Given the description of an element on the screen output the (x, y) to click on. 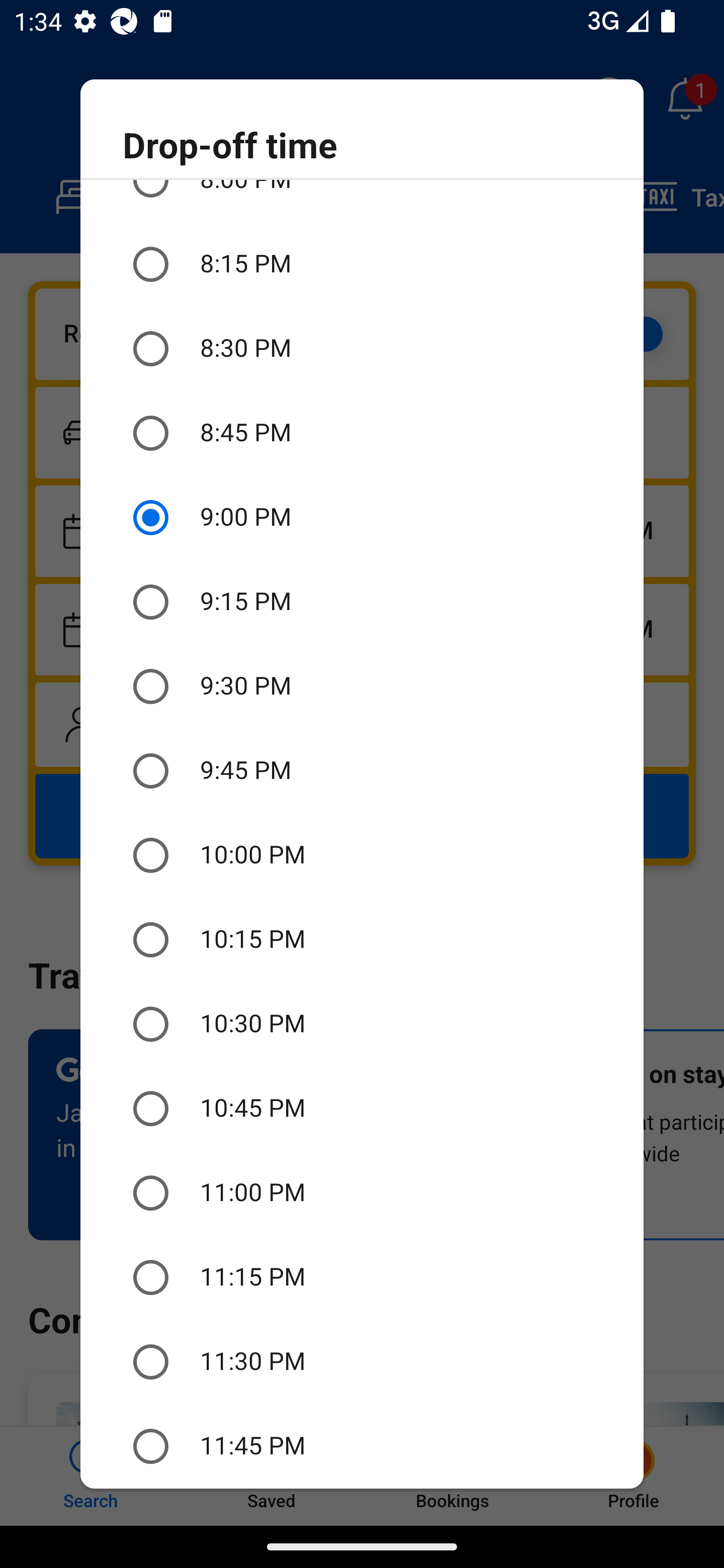
8:15 PM (361, 264)
8:30 PM (361, 348)
8:45 PM (361, 432)
9:00 PM (361, 517)
9:15 PM (361, 601)
9:30 PM (361, 686)
9:45 PM (361, 771)
10:00 PM (361, 854)
10:15 PM (361, 938)
10:30 PM (361, 1023)
10:45 PM (361, 1108)
11:00 PM (361, 1192)
11:15 PM (361, 1277)
11:30 PM (361, 1362)
11:45 PM (361, 1446)
